Given the description of an element on the screen output the (x, y) to click on. 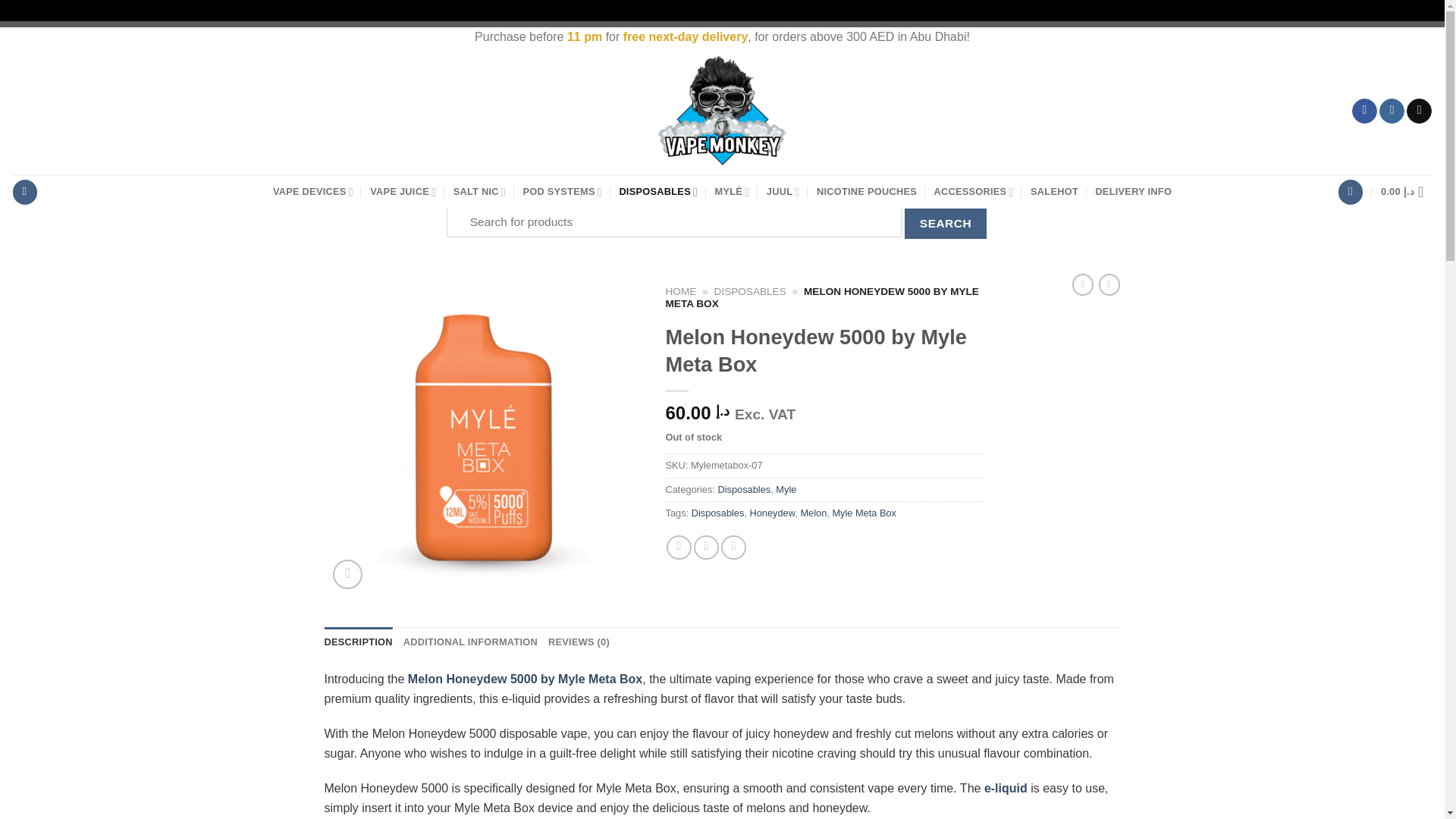
Share on Facebook (678, 547)
Search (945, 223)
VAPE JUICE (402, 191)
SALT NIC (478, 191)
Send us an email (1418, 111)
Follow on Instagram (1391, 111)
VAPE DEVICES (313, 191)
Cart (1406, 191)
Zoom (347, 573)
